Given the description of an element on the screen output the (x, y) to click on. 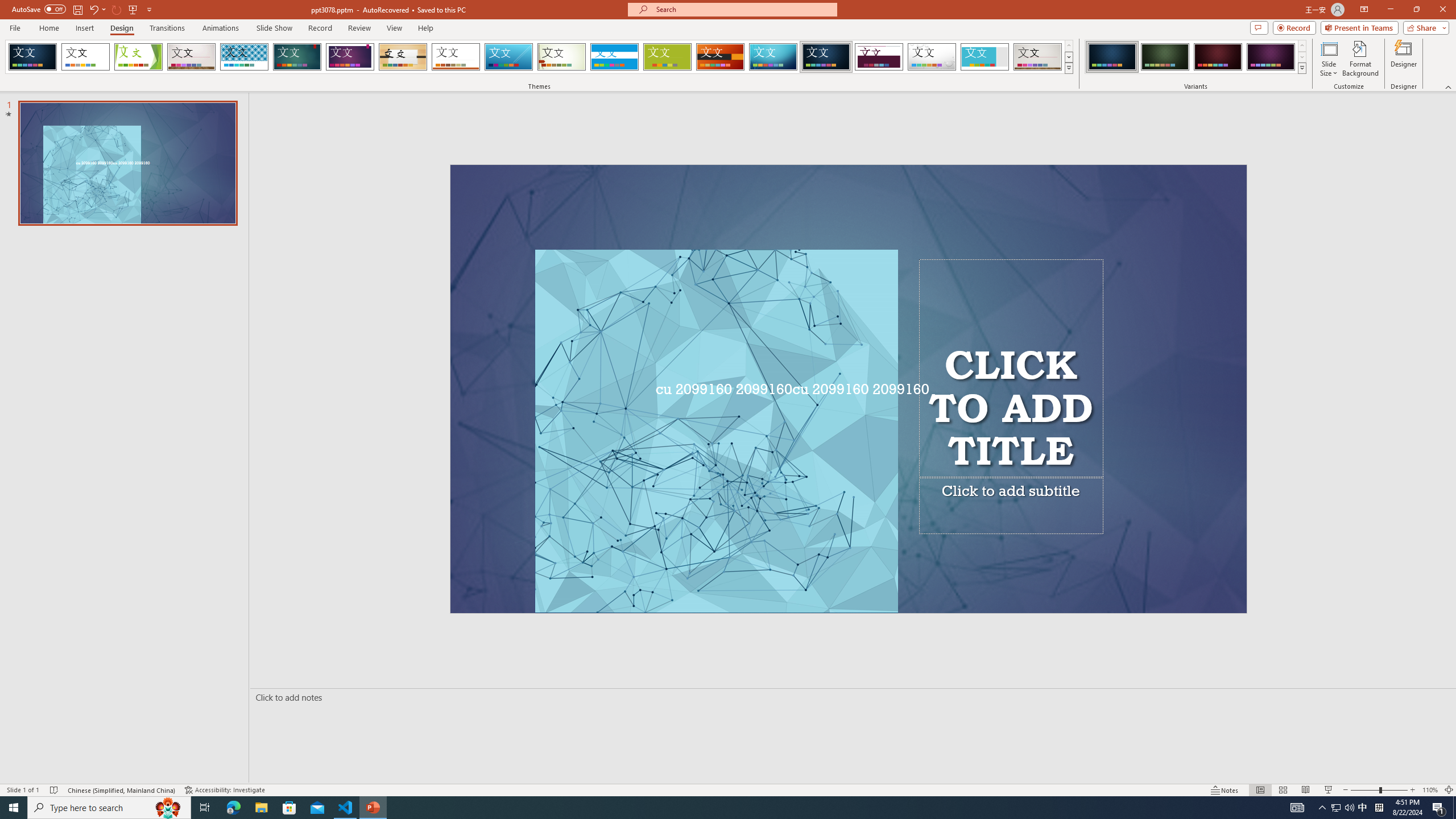
Damask Variant 1 (1112, 56)
Berlin (720, 56)
Organic (403, 56)
Dividend (879, 56)
Facet (138, 56)
